Given the description of an element on the screen output the (x, y) to click on. 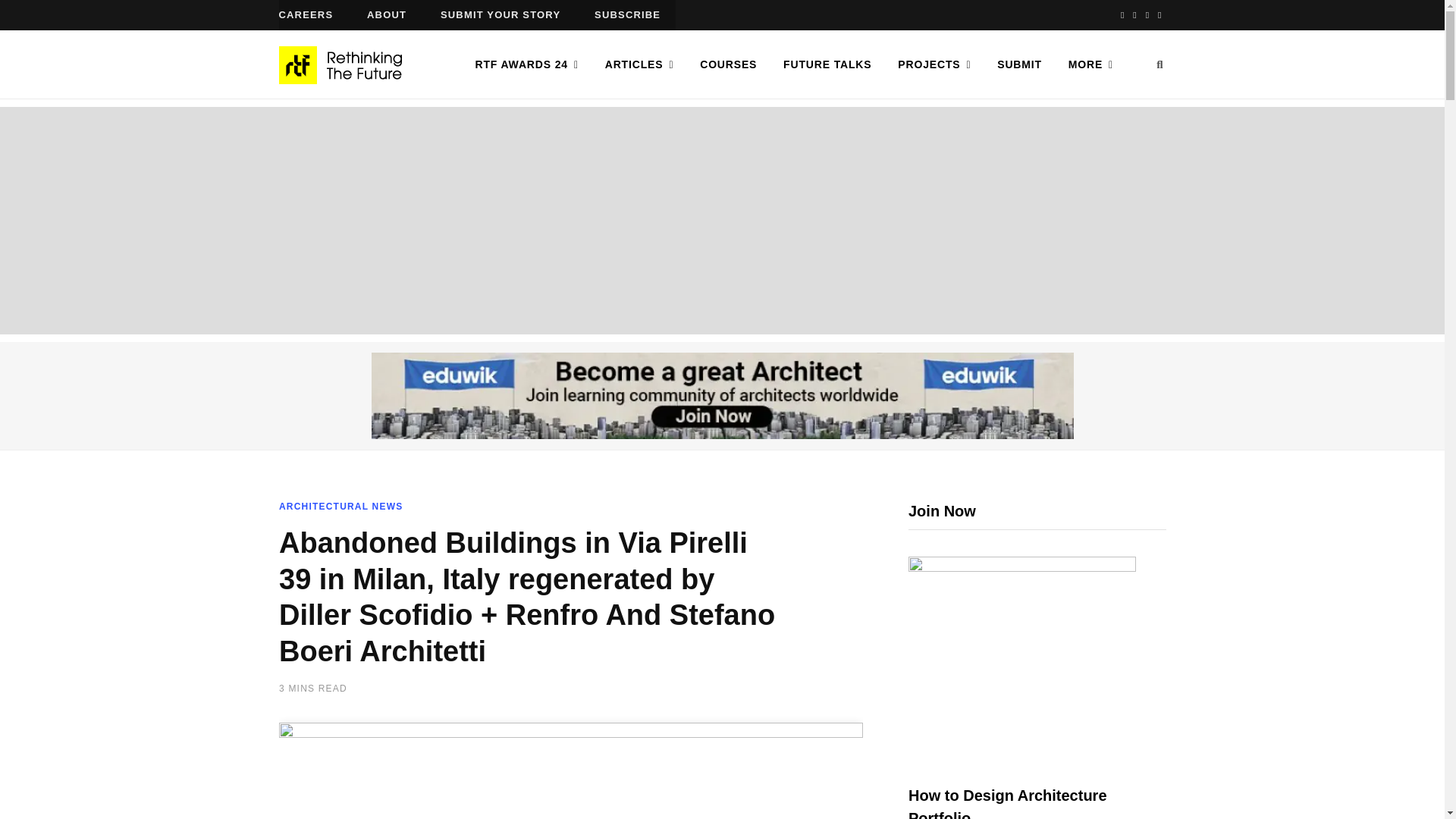
RTF AWARDS 24 (526, 64)
ABOUT (387, 15)
SUBMIT YOUR STORY (500, 15)
CAREERS (306, 15)
SUBSCRIBE (627, 15)
